Given the description of an element on the screen output the (x, y) to click on. 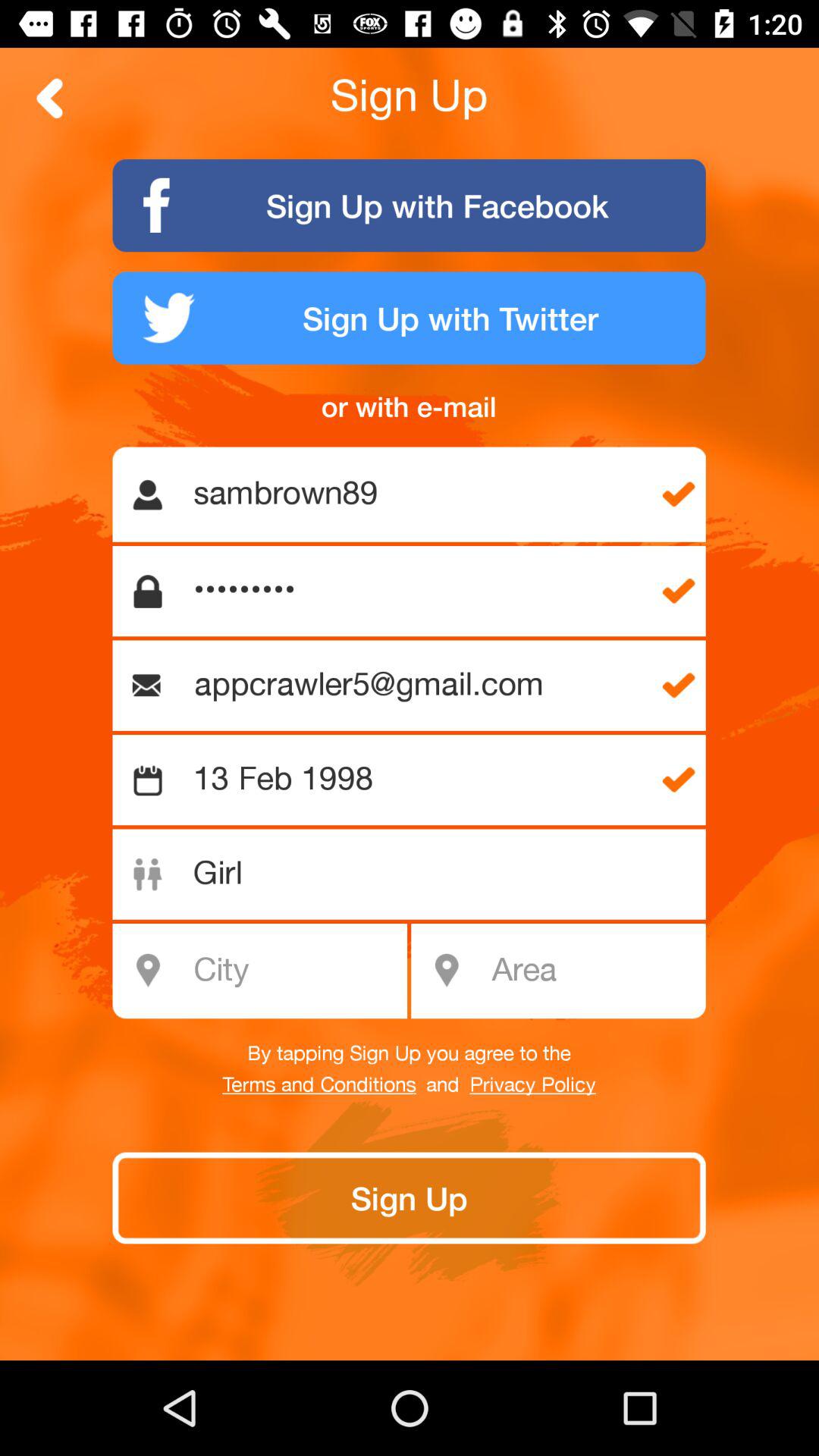
go to previous screen (50, 98)
